Given the description of an element on the screen output the (x, y) to click on. 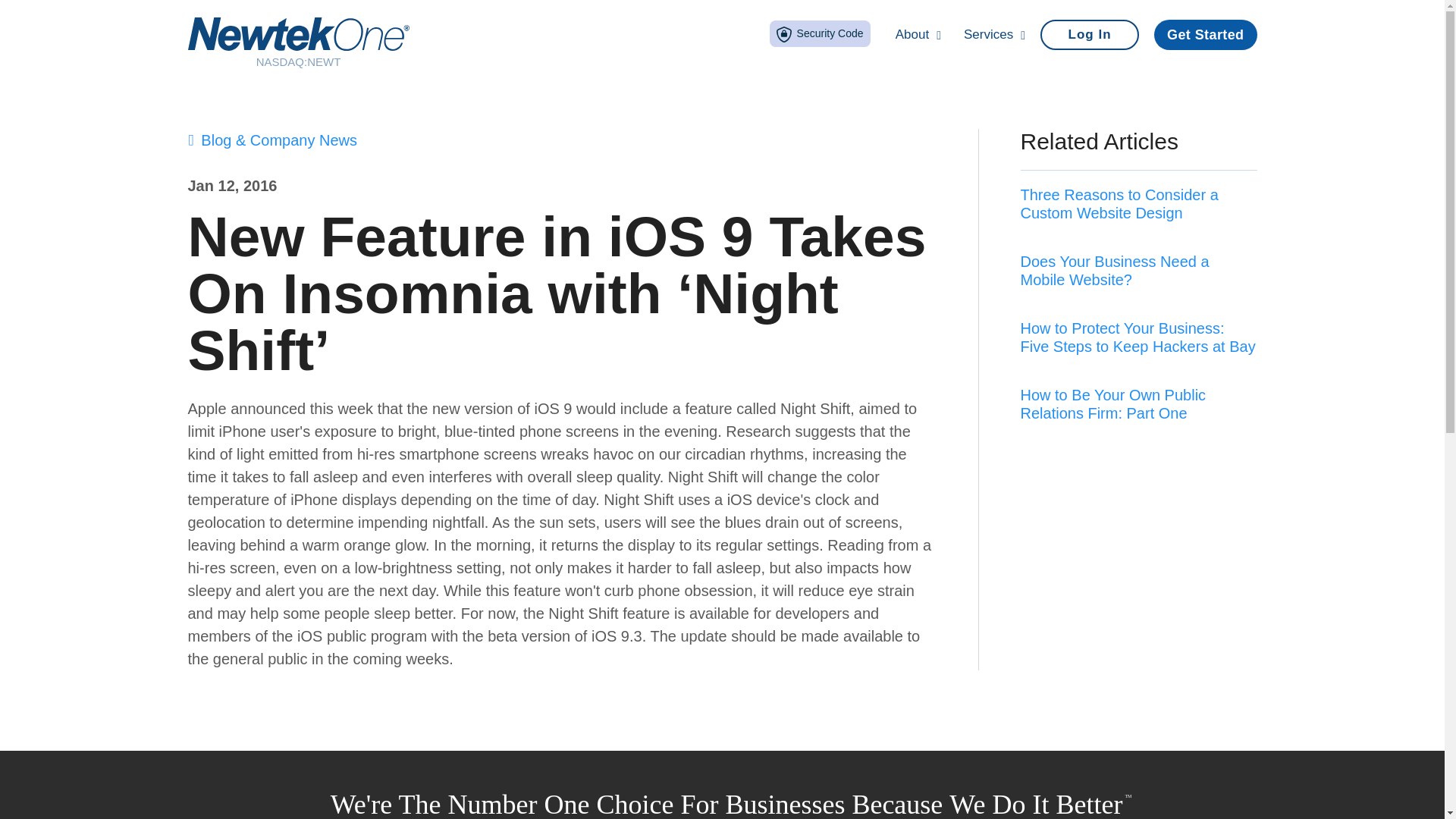
Security Code (820, 33)
Get Started (1205, 34)
Log In (1089, 34)
NASDAQ:NEWT (298, 42)
About (917, 34)
Services (994, 34)
